Given the description of an element on the screen output the (x, y) to click on. 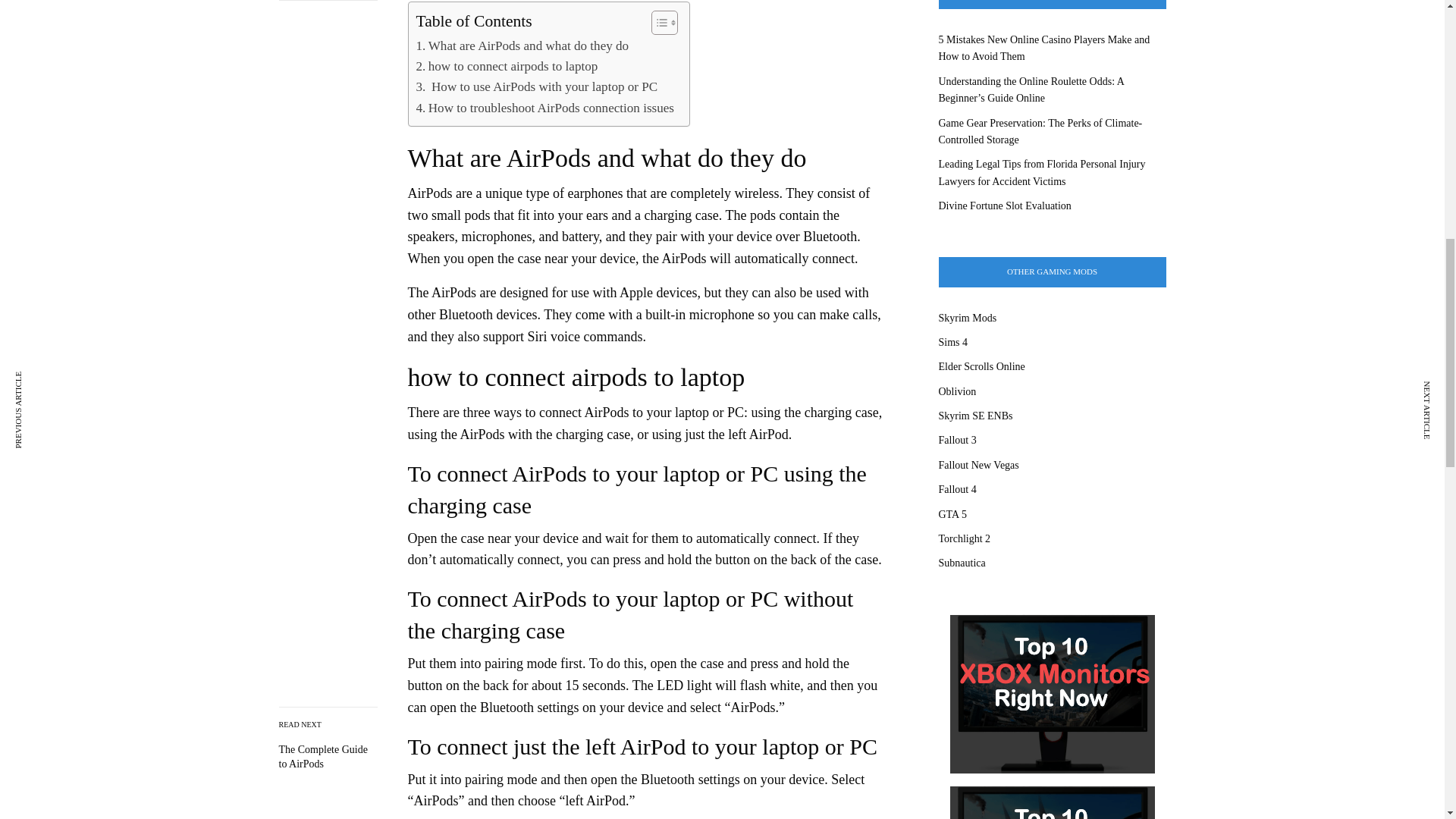
The complete guide to connecting AirPods to your laptop (328, 757)
How to troubleshoot AirPods connection issues (544, 107)
 How to use AirPods with your laptop or PC (536, 86)
how to connect airpods to laptop (505, 66)
What are AirPods and what do they do (521, 46)
How to troubleshoot AirPods connection issues (544, 107)
What are AirPods and what do they do (521, 46)
